Given the description of an element on the screen output the (x, y) to click on. 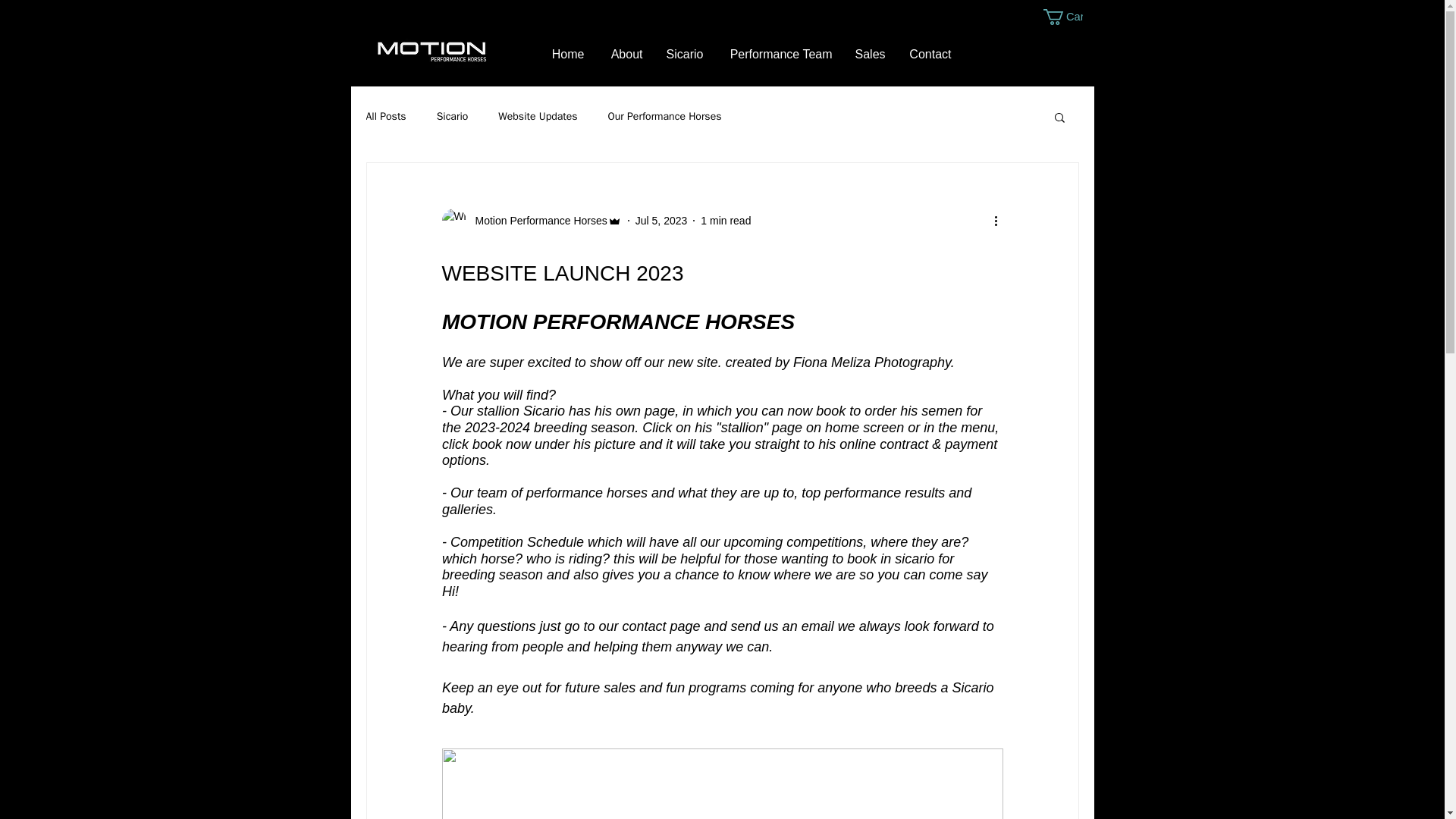
About (624, 53)
Home (566, 53)
Sales (869, 53)
Motion Performance Horses (536, 220)
Sicario (683, 53)
Our Performance Horses (665, 116)
Performance Team (778, 53)
Contact (928, 53)
Sicario (452, 116)
Cart (1063, 17)
Cart (1063, 17)
Motion Performance Horses (531, 220)
Jul 5, 2023 (660, 219)
1 min read (725, 219)
All Posts (385, 116)
